Given the description of an element on the screen output the (x, y) to click on. 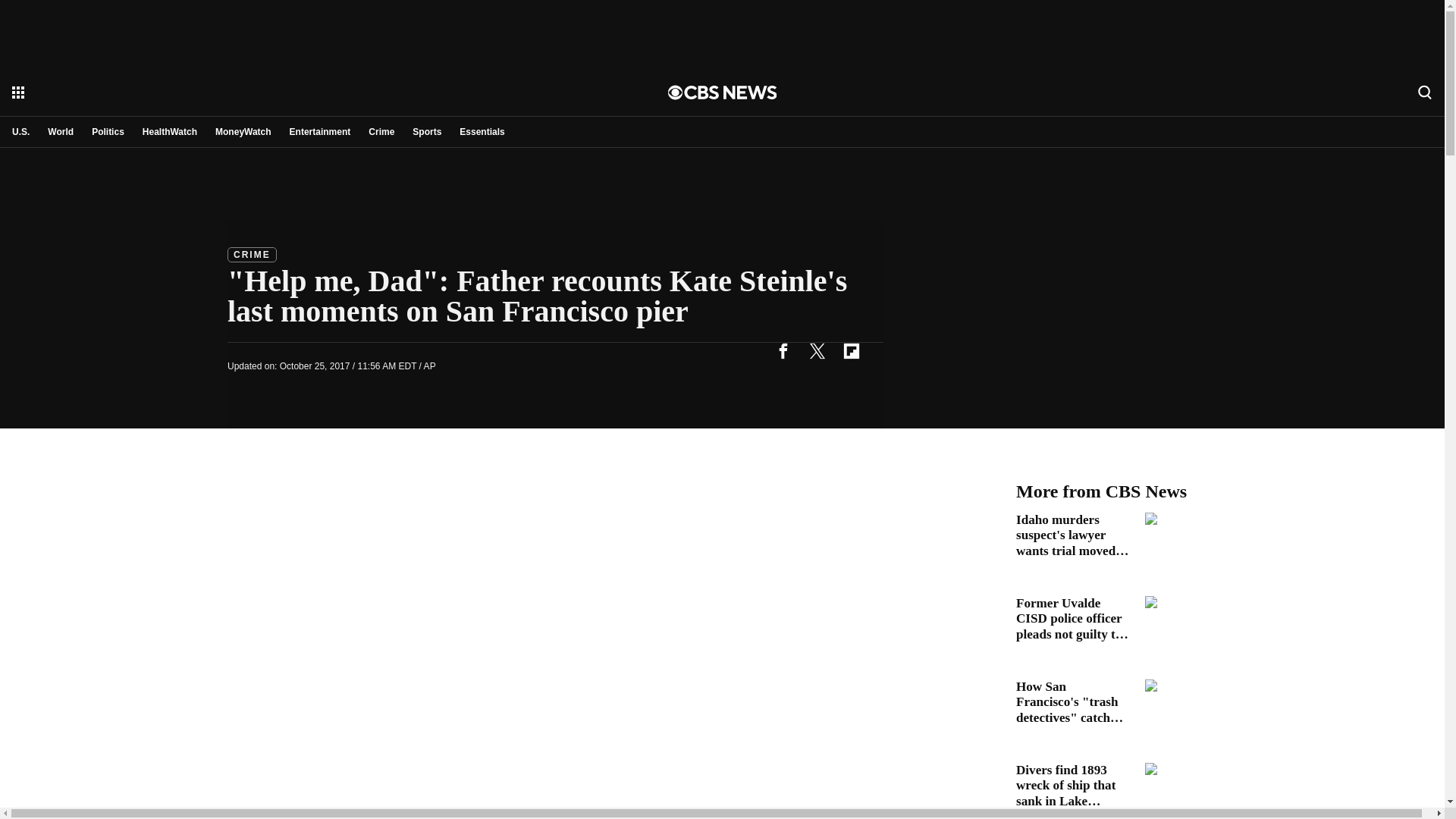
facebook (782, 350)
twitter (816, 350)
flipboard (850, 350)
